Given the description of an element on the screen output the (x, y) to click on. 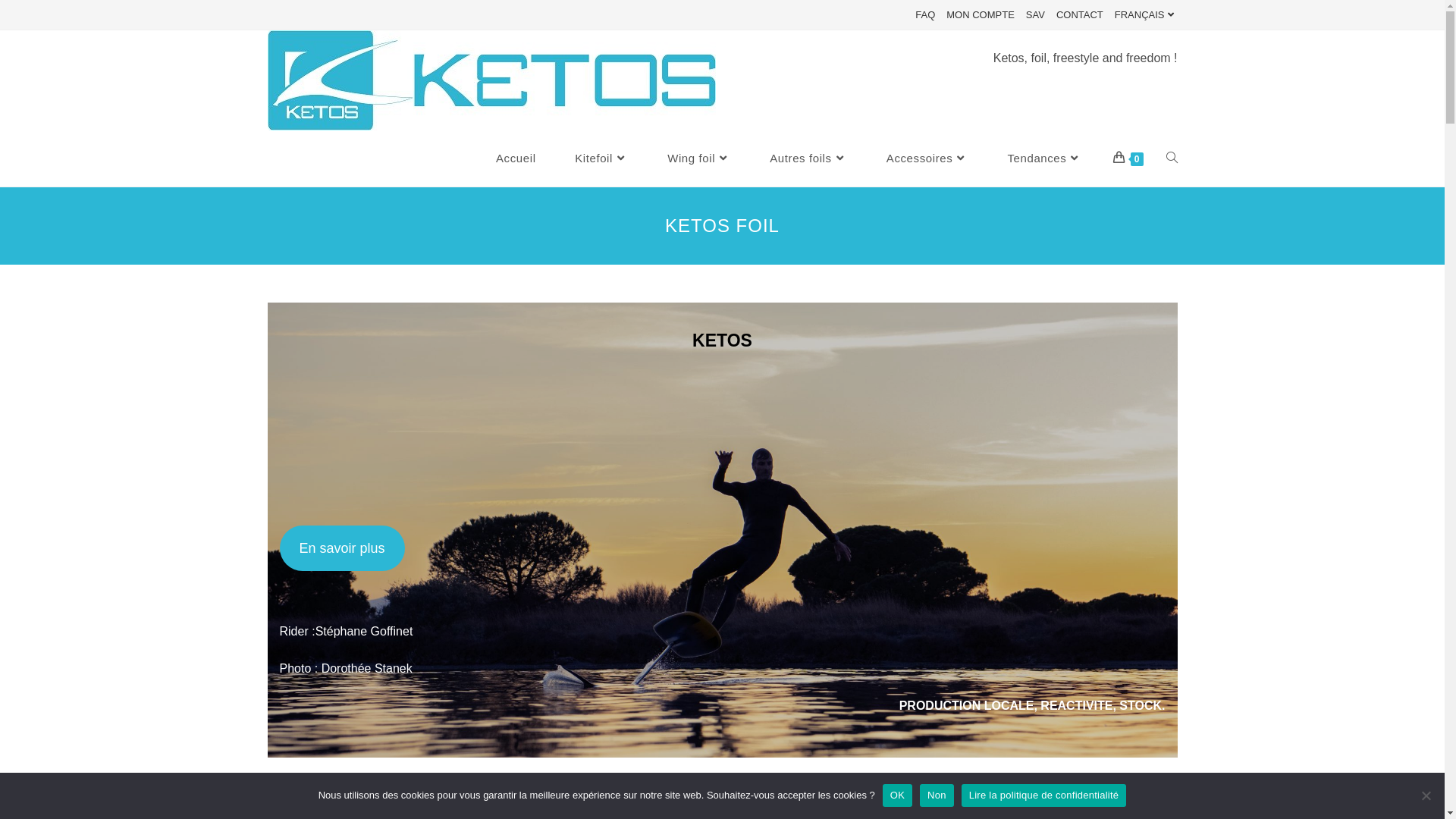
Livraison foils Element type: text (315, 577)
SAV Element type: text (1035, 14)
Tendances Element type: text (1044, 158)
0 Element type: text (1127, 158)
Kitefoil Element type: text (601, 158)
CONTACT Element type: text (1079, 14)
Sitemap Element type: text (1159, 801)
Accessoires Element type: text (927, 158)
Contact Element type: text (947, 633)
OK Element type: text (897, 795)
FAQ Element type: text (925, 14)
Magasin foil Element type: text (311, 545)
Non Element type: hover (1425, 795)
MON COMPTE Element type: text (980, 14)
Non Element type: text (936, 795)
Wing foil Element type: text (698, 158)
Autres foils Element type: text (807, 158)
Blog foil Element type: text (300, 641)
En savoir plus Element type: text (341, 548)
Accueil Element type: text (515, 158)
CGV Element type: text (1045, 801)
Boutique Ketos Element type: text (320, 514)
